Given the description of an element on the screen output the (x, y) to click on. 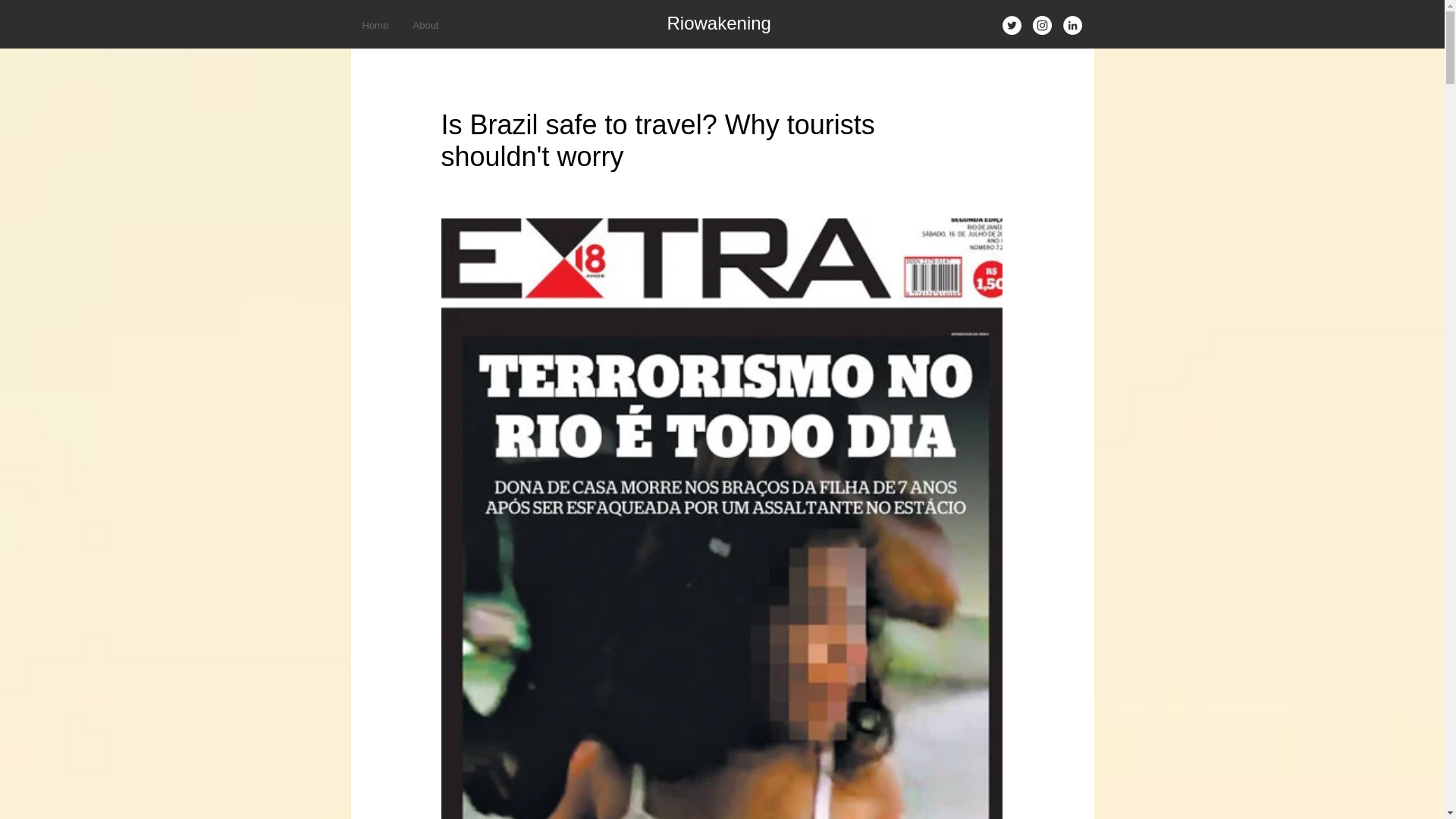
About (426, 25)
Riowakening (718, 23)
Home (375, 25)
